Given the description of an element on the screen output the (x, y) to click on. 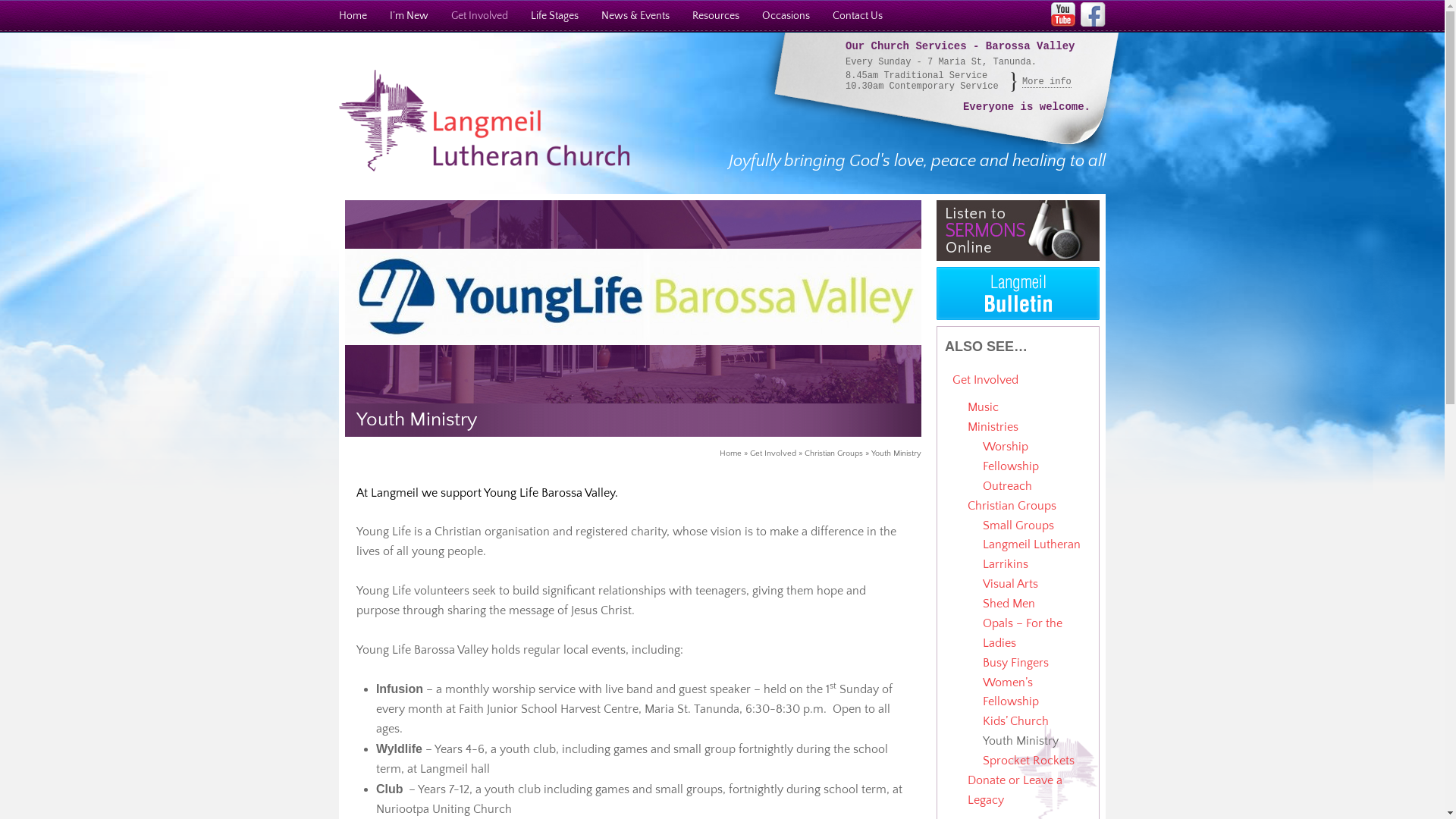
Outreach Element type: text (1007, 485)
Home Element type: text (730, 453)
Resources Element type: text (715, 15)
Langmeil Lutheran Larrikins Element type: text (1031, 554)
News & Events Element type: text (635, 15)
Ministries Element type: text (992, 426)
Donate or Leave a Legacy Element type: text (1014, 789)
Get Involved Element type: text (772, 453)
Fellowship Element type: text (1010, 466)
Life Stages Element type: text (554, 15)
Worship Element type: text (1005, 446)
Christian Groups Element type: text (1011, 505)
Music Element type: text (982, 407)
Sprocket Rockets Element type: text (1028, 760)
Get Involved Element type: text (479, 15)
Shed Men Element type: text (1008, 603)
Busy Fingers Element type: text (1015, 662)
Occasions Element type: text (785, 15)
Christian Groups Element type: text (833, 453)
Youth Ministry Element type: text (1020, 740)
Get Involved Element type: text (985, 379)
Contact Us Element type: text (857, 15)
Home Element type: text (352, 15)
Small Groups Element type: text (1018, 525)
Visual Arts Element type: text (1010, 583)
